Given the description of an element on the screen output the (x, y) to click on. 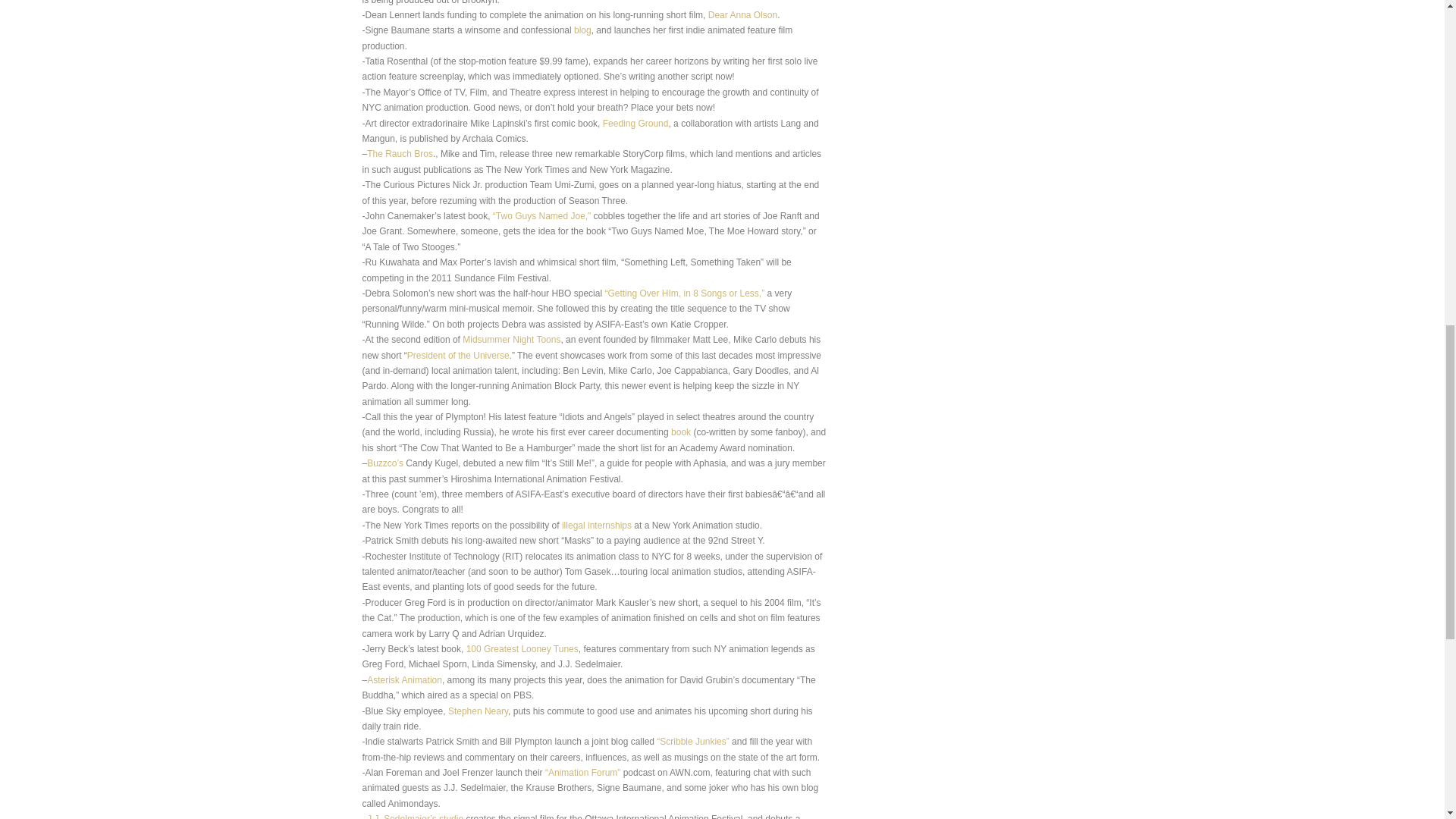
illegal internships (596, 525)
Asterisk Animation (404, 679)
100 Greatest Looney Tunes (521, 648)
Midsummer Night Toons (511, 339)
Dear Anna Olson (742, 14)
President of the Universe (458, 355)
blog (582, 30)
The Rauch Bros (399, 153)
Feeding Ground (633, 122)
Stephen Neary (478, 710)
book (680, 431)
